Given the description of an element on the screen output the (x, y) to click on. 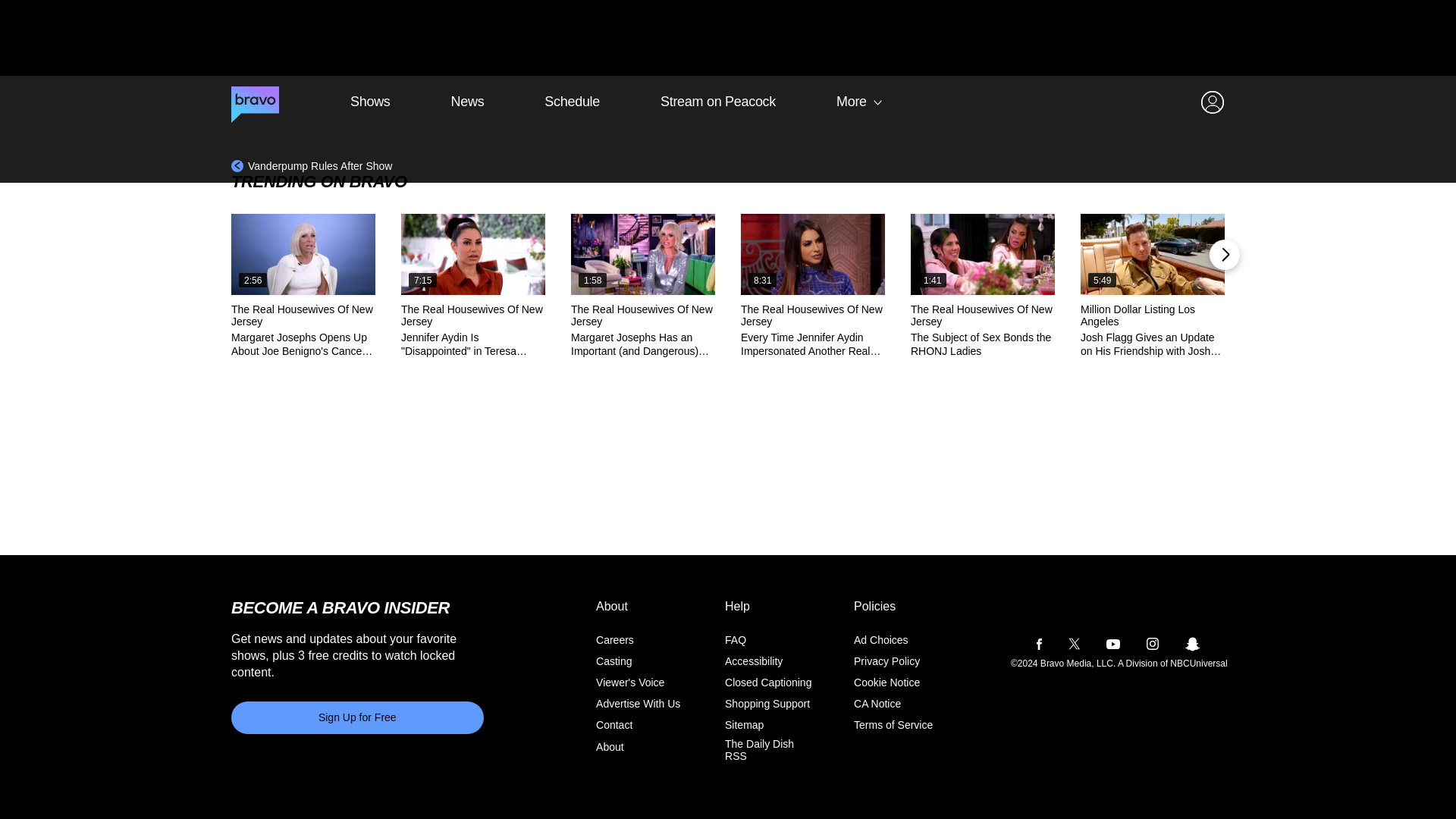
Vanderpump Rules After Show (311, 165)
Home (255, 102)
News (467, 101)
Stream on Peacock (718, 101)
Schedule (571, 101)
Shows (370, 101)
The Subject of Sex Bonds the RHONJ Ladies (982, 253)
